Given the description of an element on the screen output the (x, y) to click on. 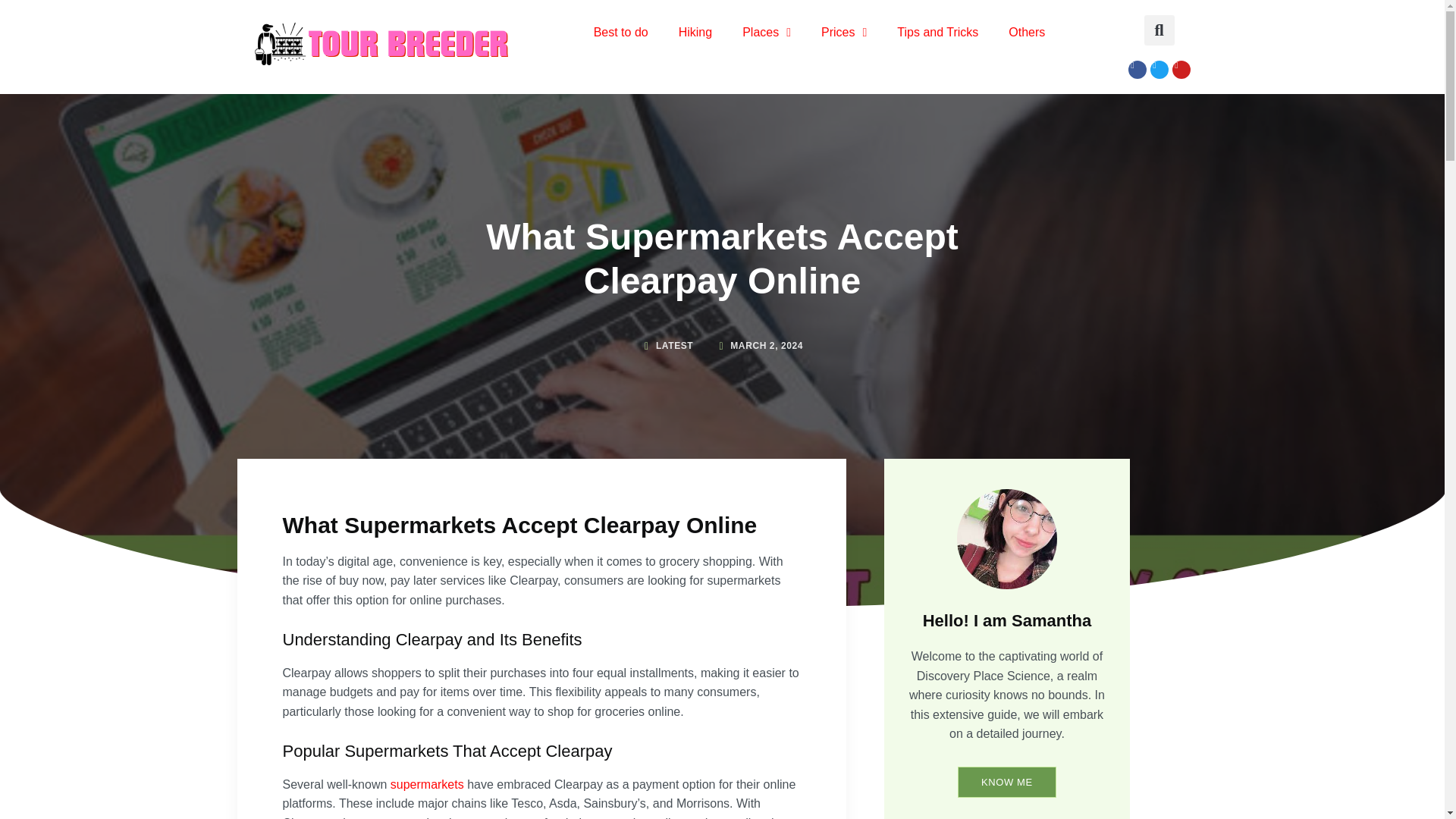
Prices (844, 32)
Others (1025, 32)
Best to do (620, 32)
Hiking (694, 32)
Places (766, 32)
Tips and Tricks (937, 32)
